Given the description of an element on the screen output the (x, y) to click on. 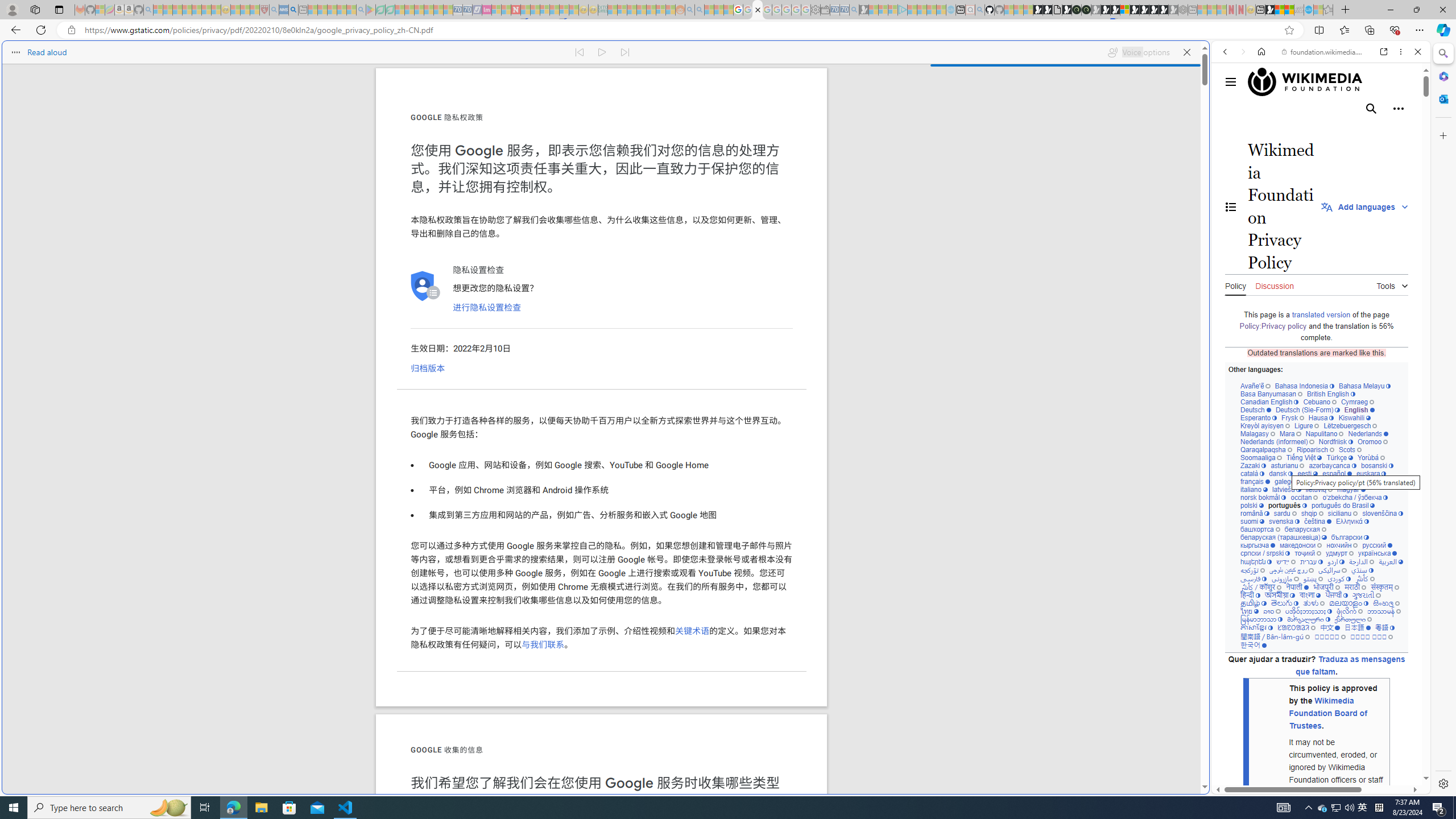
English (1358, 409)
google - Search - Sleeping (360, 9)
Ripoarisch (1314, 449)
Qaraqalpaqsha (1266, 449)
magyar (1350, 488)
Sign in to your account (1124, 9)
MSNBC - MSN - Sleeping (611, 9)
sardu (1285, 513)
